Given the description of an element on the screen output the (x, y) to click on. 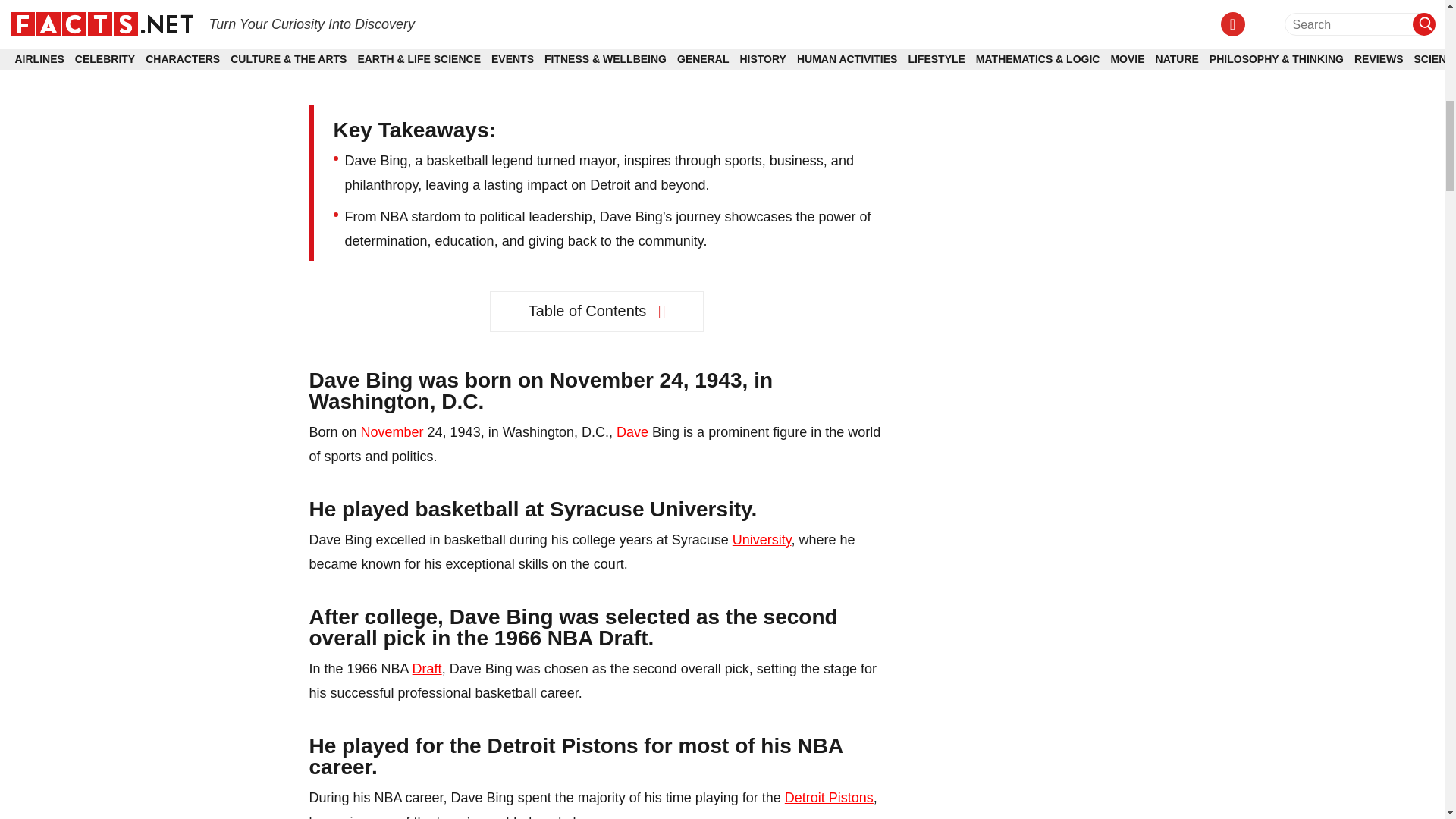
Dave (631, 432)
fascinating (521, 29)
Detroit Pistons (828, 797)
Bing (434, 6)
November (392, 432)
Draft (427, 668)
University (762, 539)
